Given the description of an element on the screen output the (x, y) to click on. 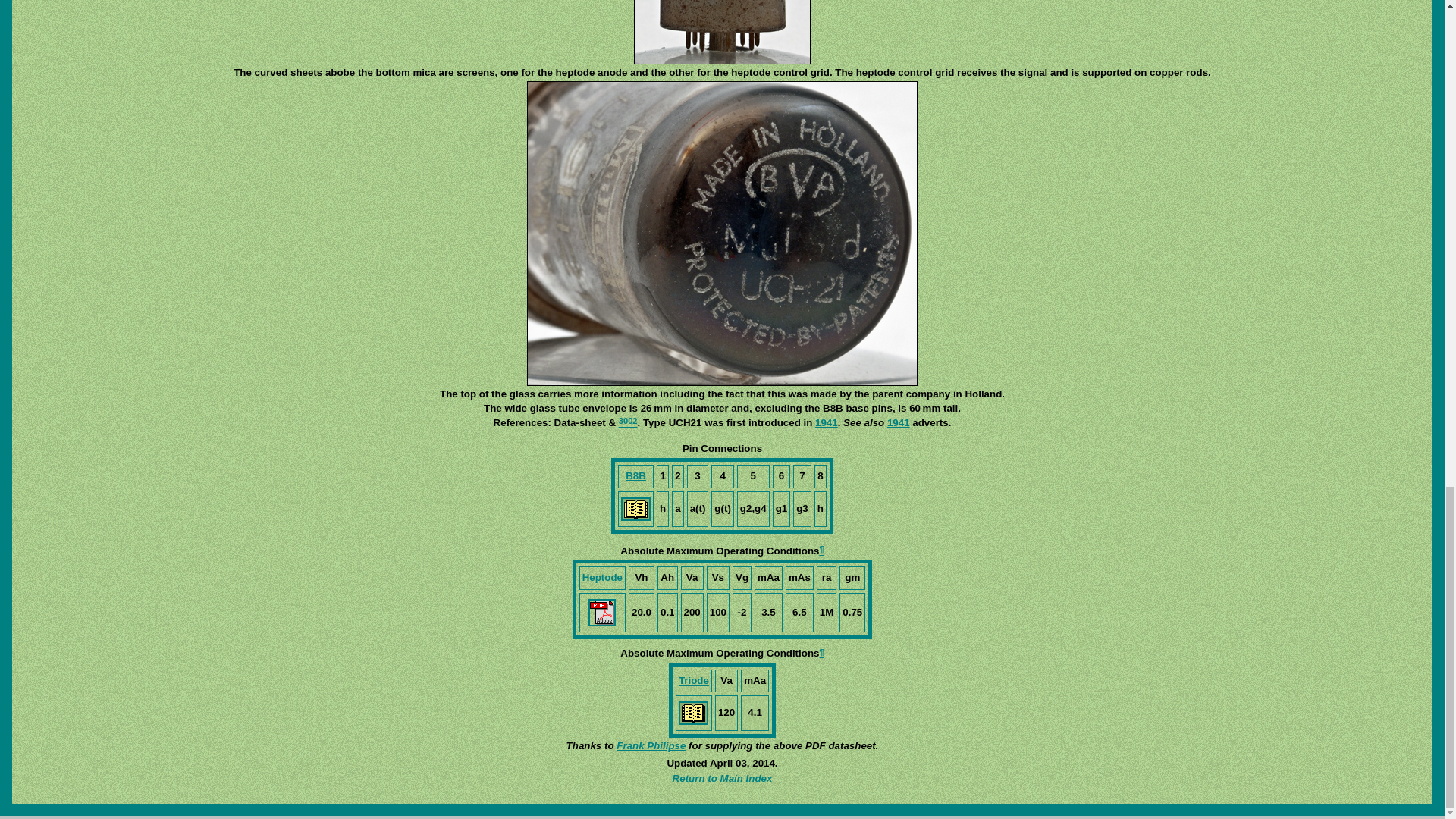
3002 (627, 422)
Return to Main Index (722, 778)
B8B (636, 475)
1941 (898, 422)
Triode (693, 679)
Frank Philipse (650, 745)
1941 (826, 422)
Heptode (602, 577)
